Given the description of an element on the screen output the (x, y) to click on. 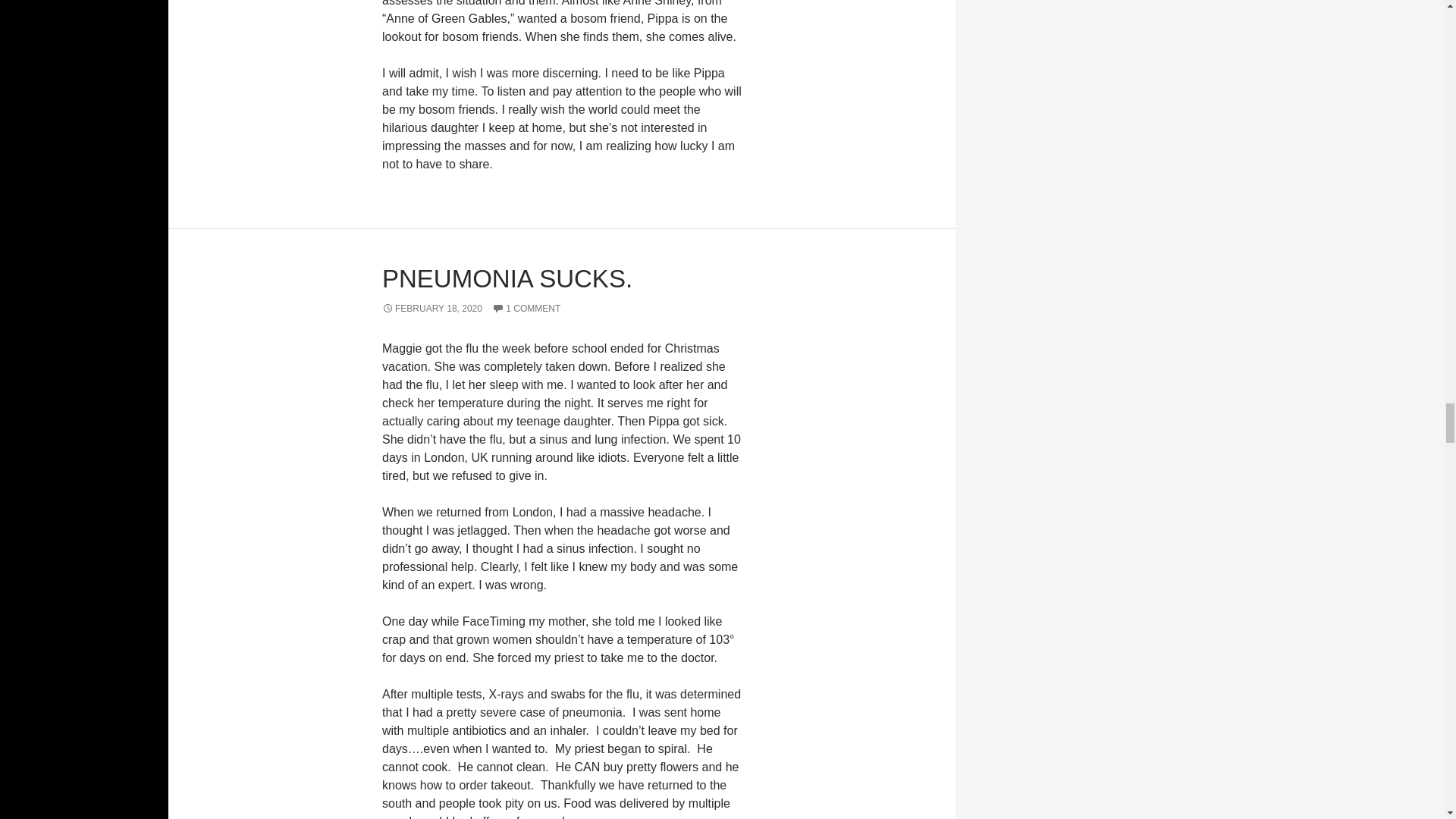
FEBRUARY 18, 2020 (431, 308)
1 COMMENT (526, 308)
PNEUMONIA SUCKS. (506, 278)
